Given the description of an element on the screen output the (x, y) to click on. 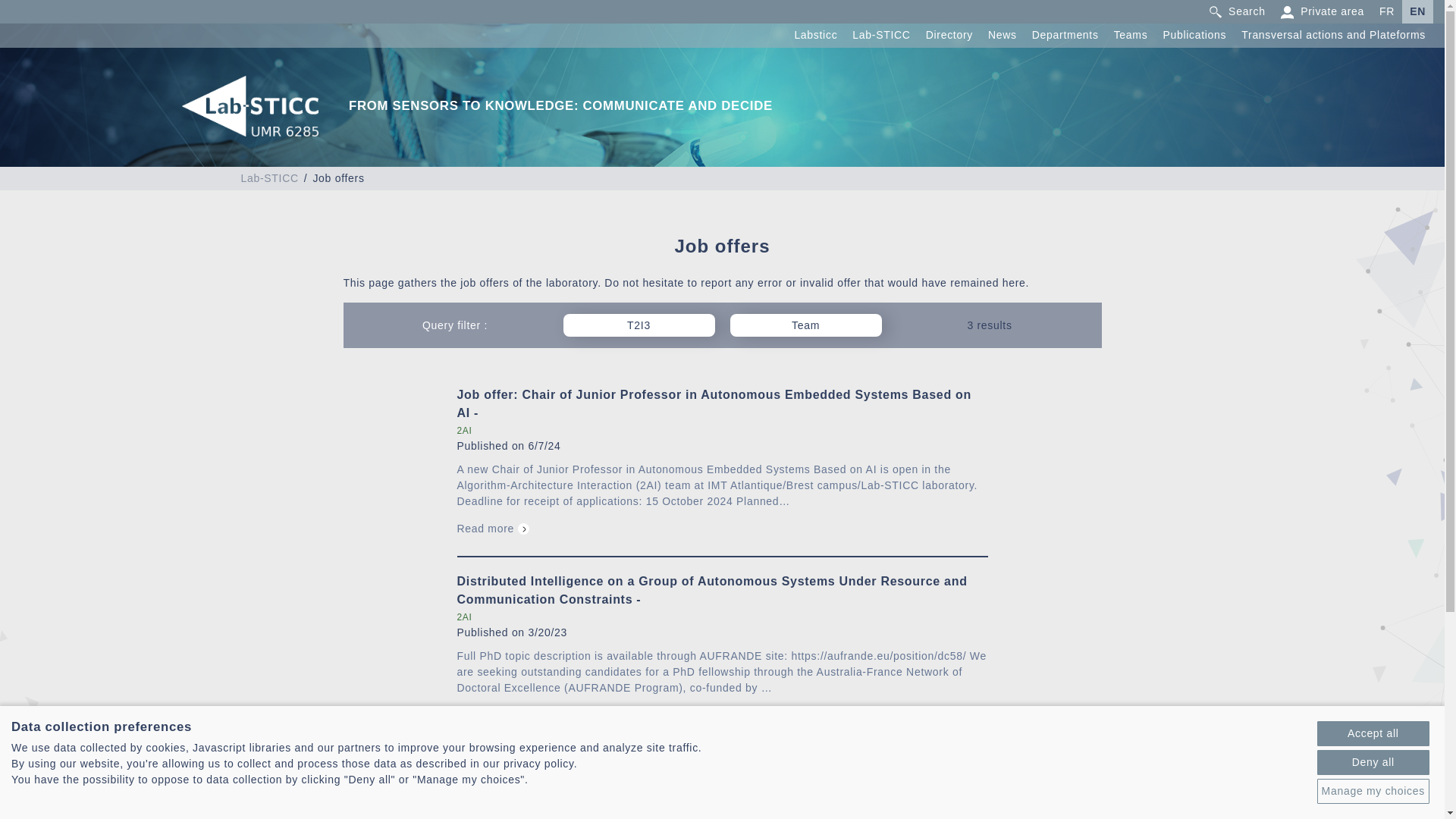
Labsticc (815, 34)
Teams (1130, 34)
Departments (1065, 34)
Transversal actions and Plateforms (1333, 34)
 Private area (1322, 10)
Read more (493, 528)
Directory (949, 34)
 Search (1236, 10)
Job offers (338, 177)
Publications (1193, 34)
FR (1386, 10)
News (1002, 34)
Lab-STICC (880, 34)
2AI (464, 430)
